Given the description of an element on the screen output the (x, y) to click on. 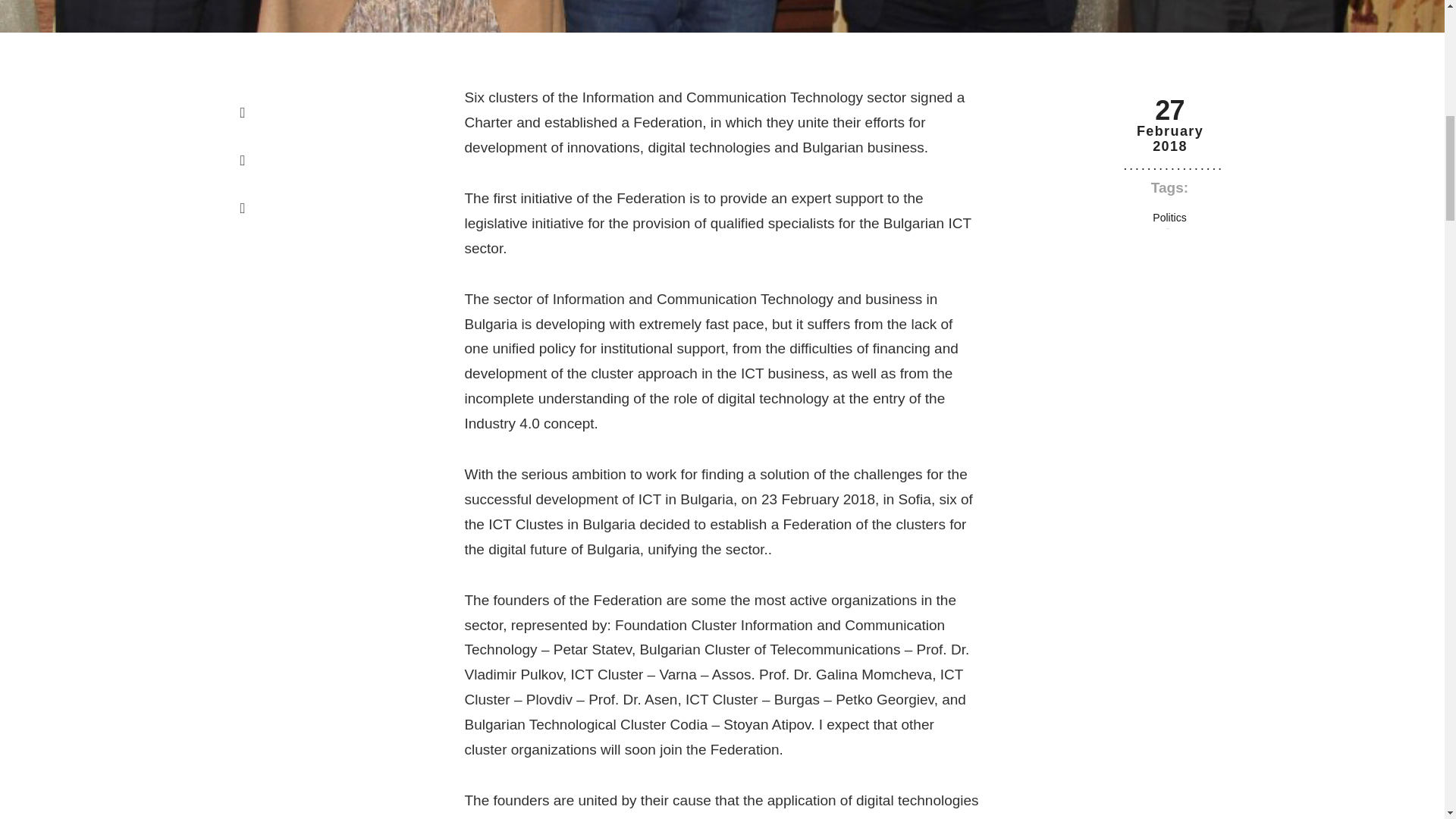
Email (241, 207)
Politics (1169, 218)
Share on Twitter (241, 160)
Share on Facebook (241, 112)
